Given the description of an element on the screen output the (x, y) to click on. 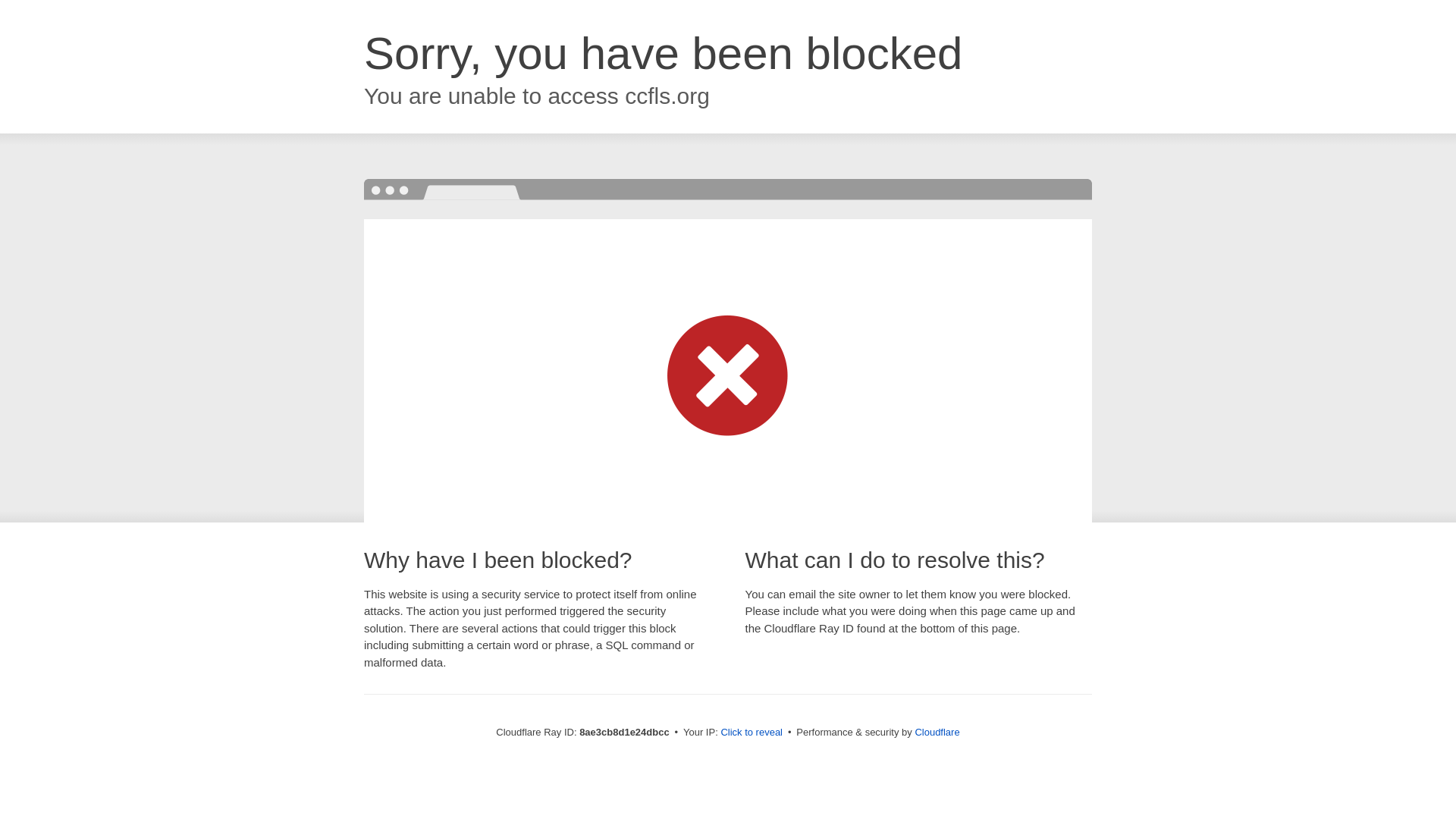
Cloudflare (936, 731)
Click to reveal (751, 732)
